Given the description of an element on the screen output the (x, y) to click on. 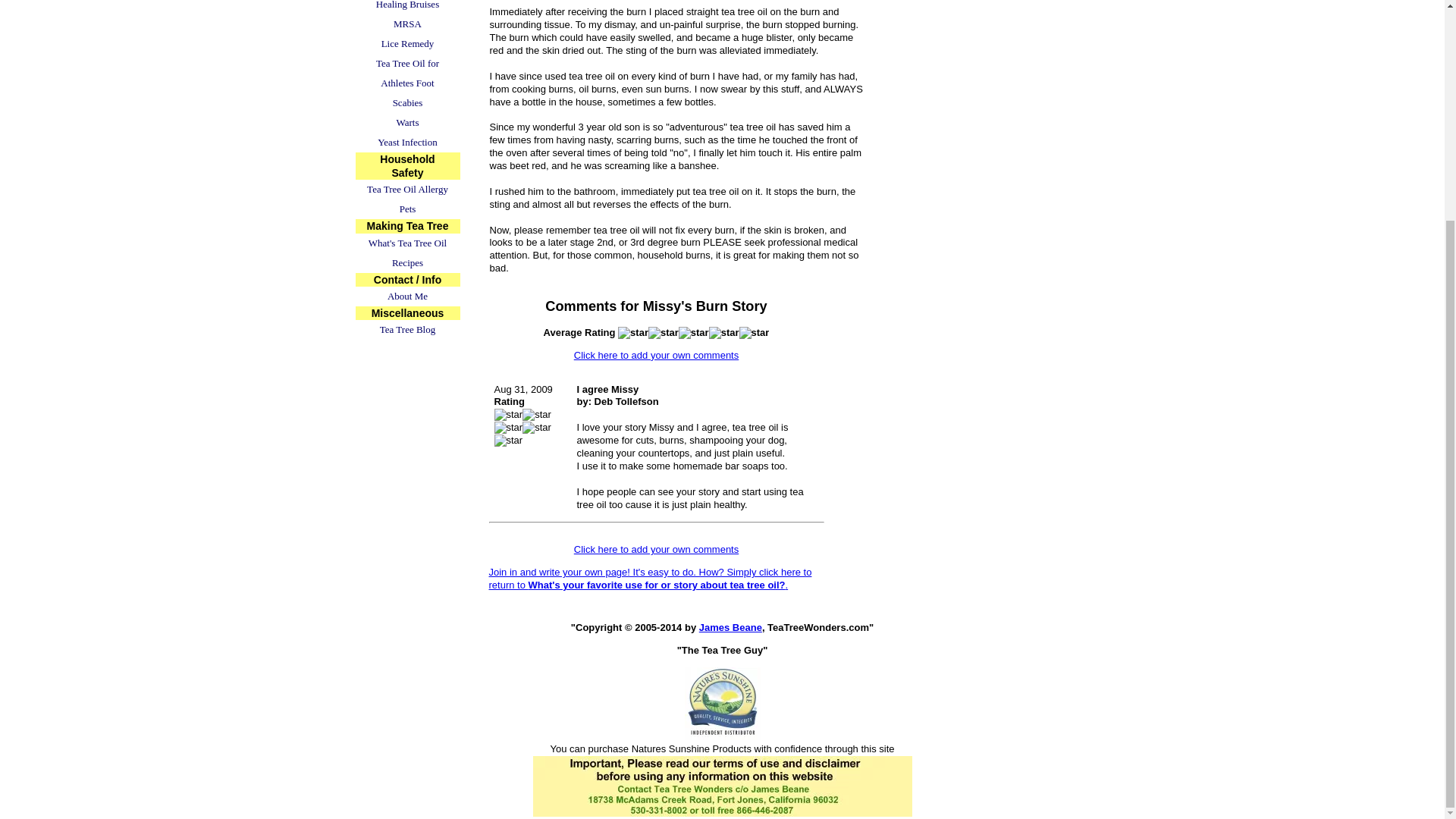
Yeast Infection (407, 142)
Healing Bruises (407, 7)
MRSA (407, 24)
Warts (407, 122)
Pets (407, 209)
Tea Tree Blog (407, 329)
Athletes Foot (407, 83)
James Beane (729, 627)
Scabies (407, 103)
Click here to add your own comments (655, 549)
Recipes (407, 262)
Lice Remedy (407, 44)
About Me (407, 296)
Click here to add your own comments (655, 355)
